Given the description of an element on the screen output the (x, y) to click on. 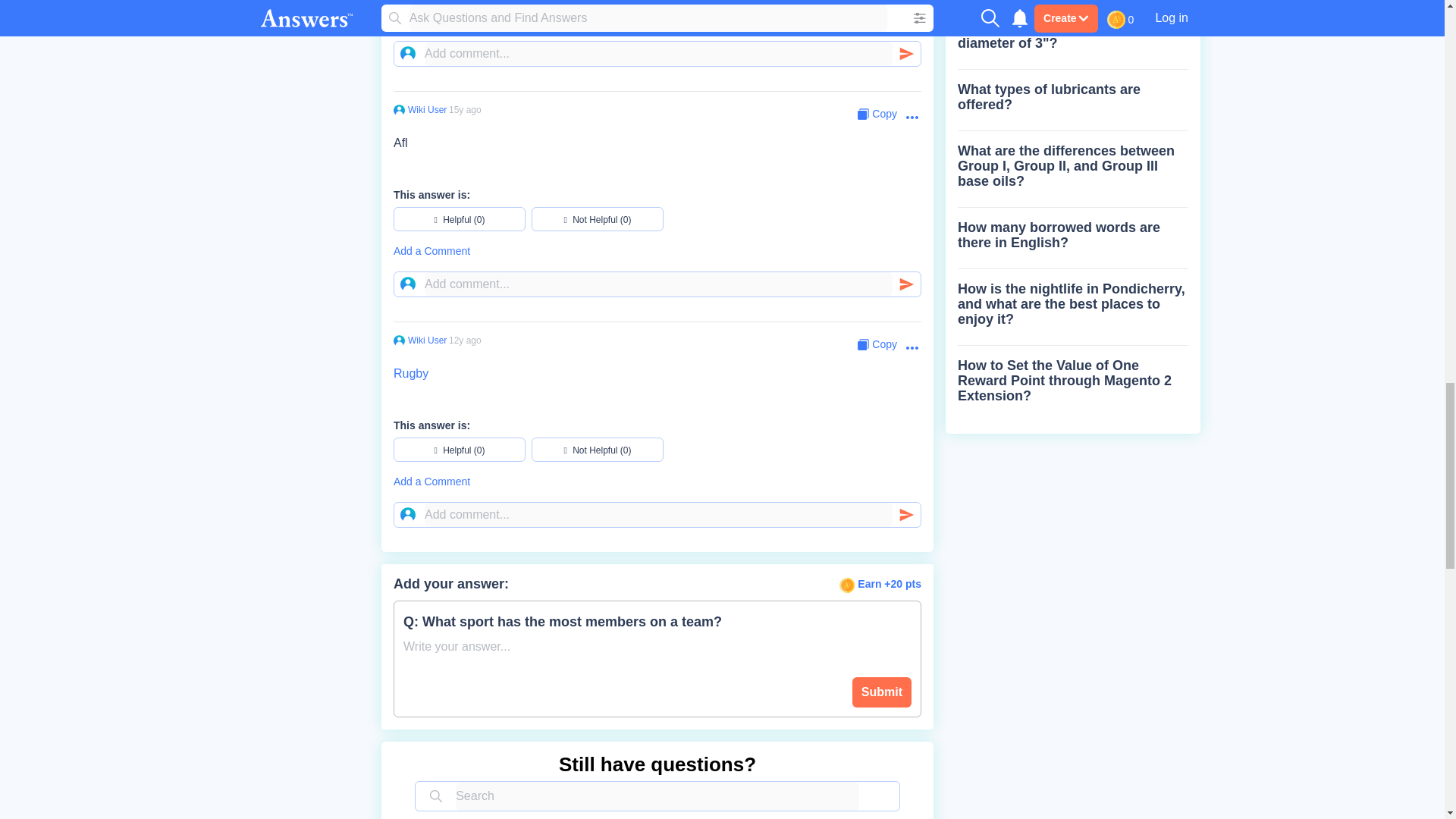
2011-07-26 09:44:58 (464, 339)
2009-05-31 06:19:02 (464, 109)
